Given the description of an element on the screen output the (x, y) to click on. 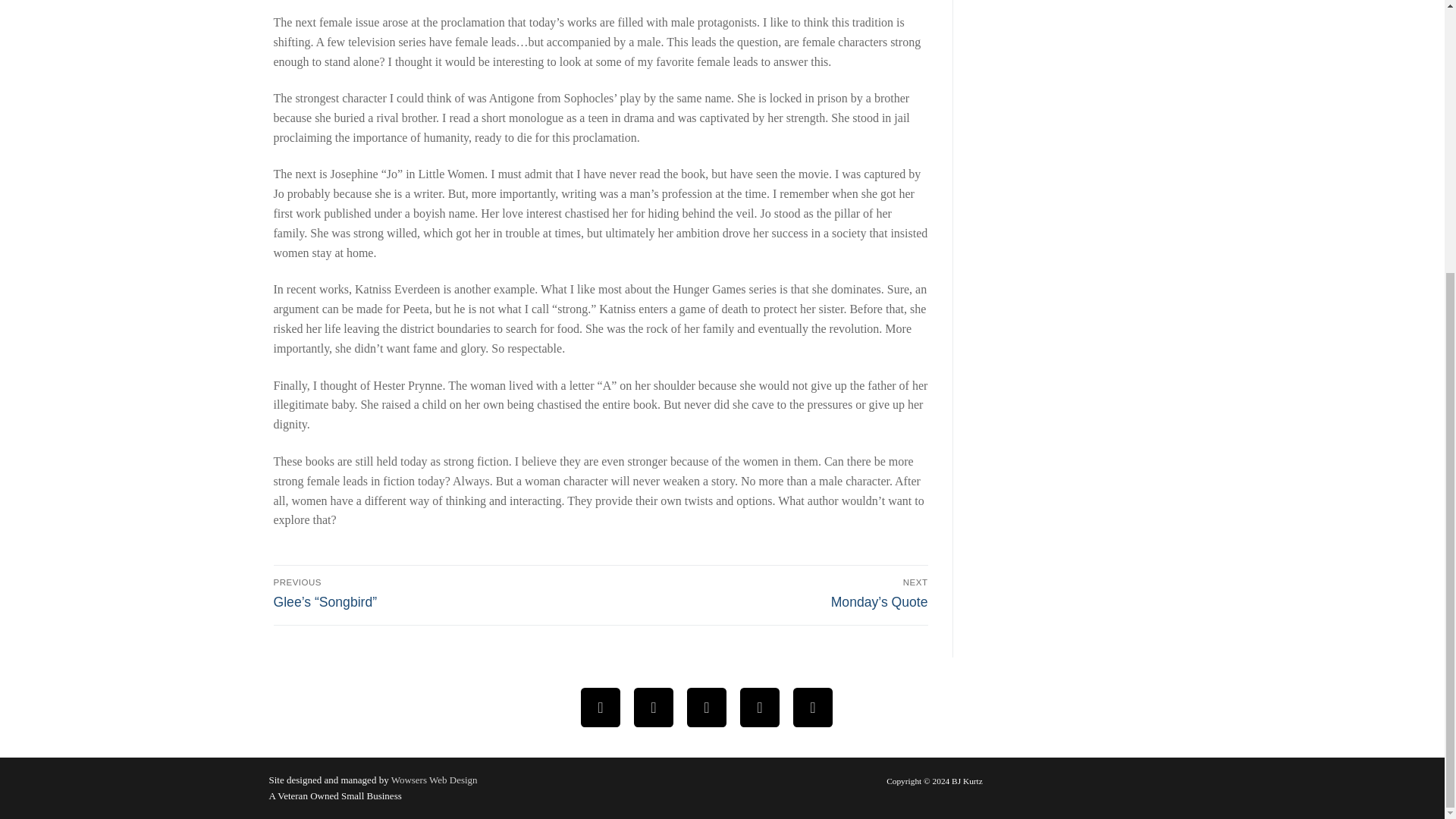
Facebook (600, 707)
Twitter (653, 707)
Wowsers Web Design (434, 779)
Youtube (706, 707)
Good Reads (813, 707)
Linked In (759, 707)
